Given the description of an element on the screen output the (x, y) to click on. 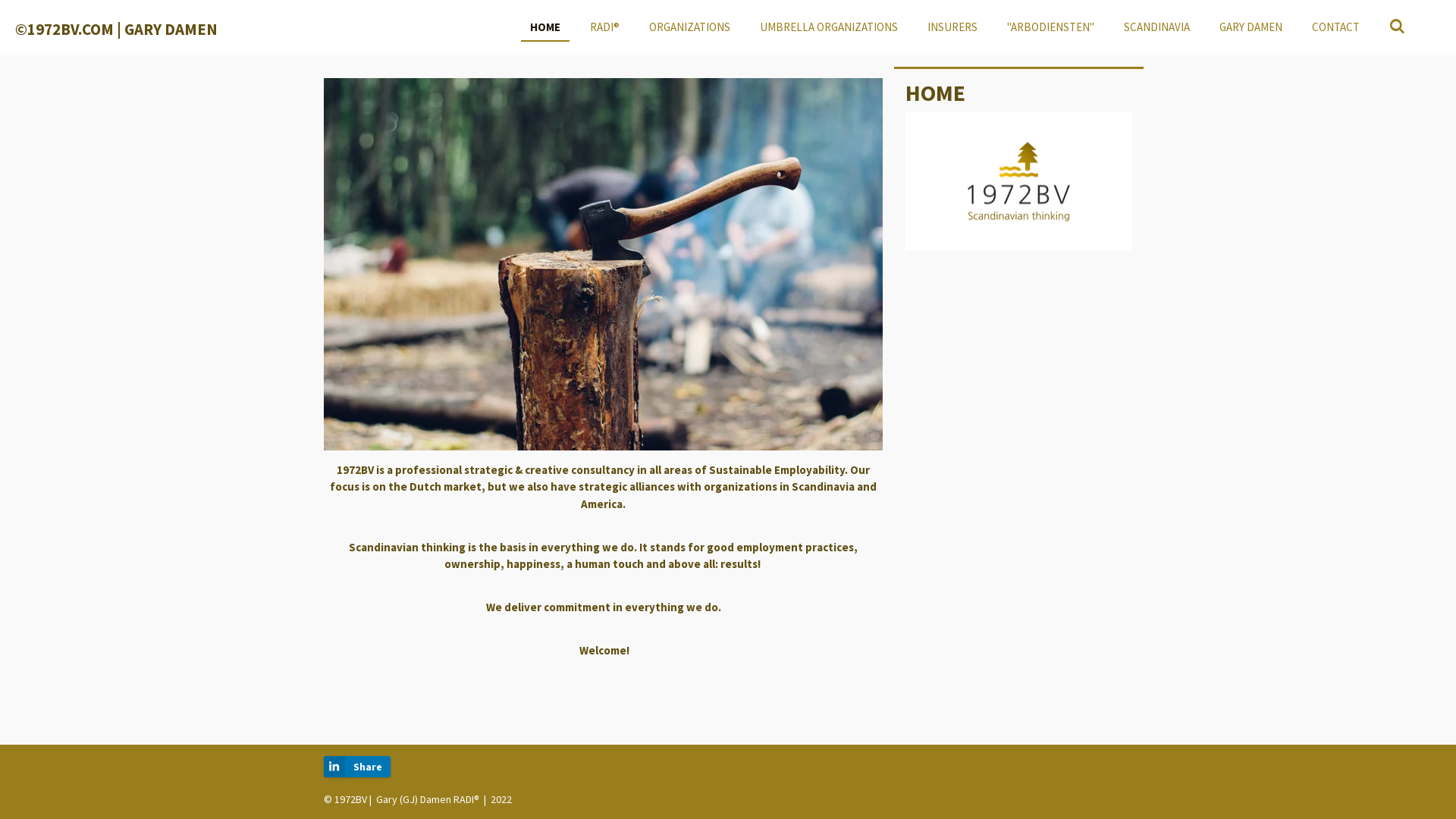
GARY DAMEN Element type: text (1250, 27)
SCANDINAVIA Element type: text (1156, 27)
INSURERS Element type: text (952, 27)
Share Element type: text (356, 766)
UMBRELLA ORGANIZATIONS Element type: text (828, 27)
ORGANIZATIONS Element type: text (689, 27)
"ARBODIENSTEN" Element type: text (1050, 27)
CONTACT Element type: text (1335, 27)
HOME Element type: text (544, 27)
Zoeken Element type: hover (1397, 27)
